Given the description of an element on the screen output the (x, y) to click on. 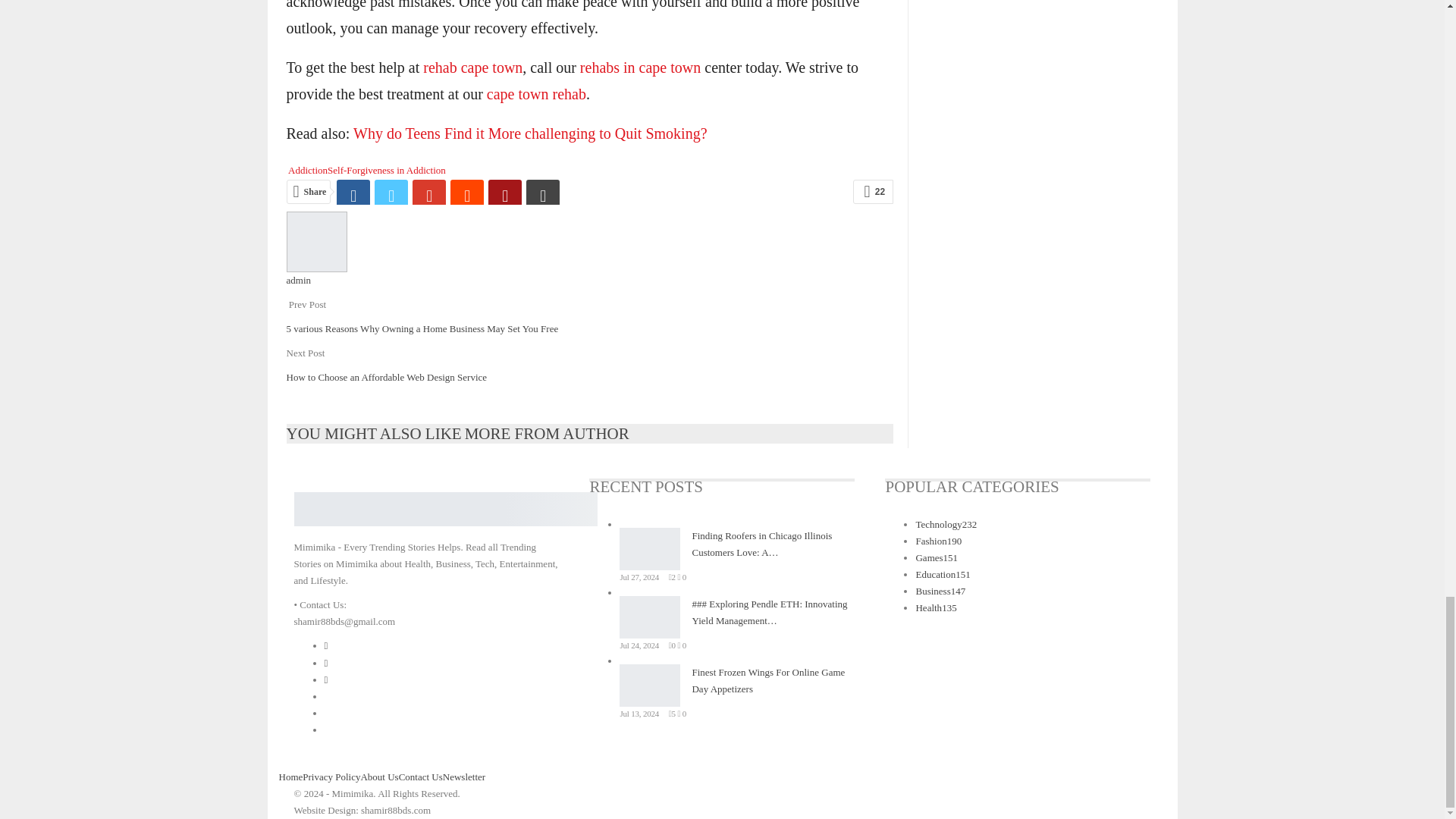
Browse Author Articles (316, 240)
